Given the description of an element on the screen output the (x, y) to click on. 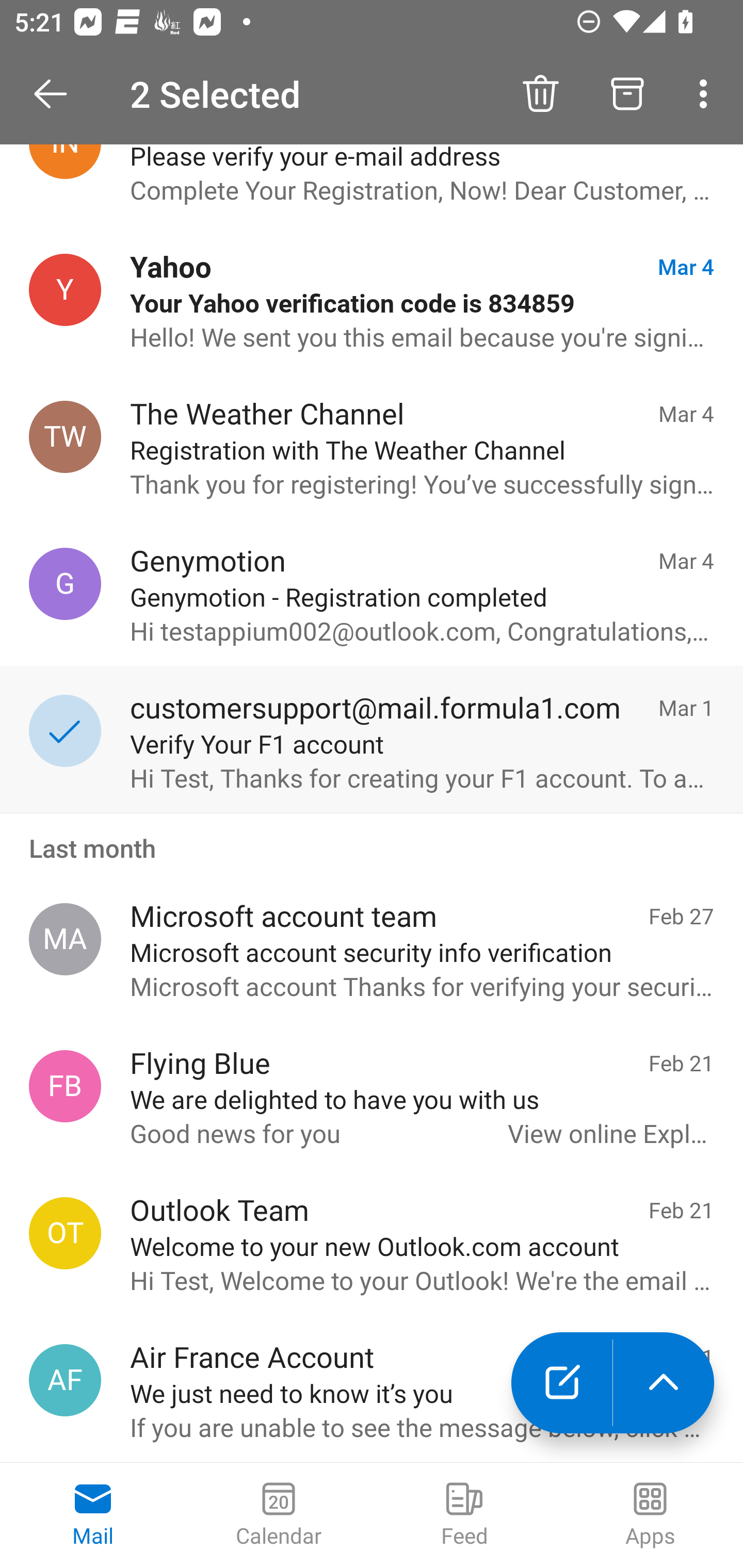
Delete (540, 93)
Archive (626, 93)
More options (706, 93)
Close Navigation Drawer (57, 94)
Yahoo, no-reply@cc.yahoo-inc.com (64, 290)
The Weather Channel, noreply@weather.com (64, 437)
Genymotion, genymotion-activation@genymobile.com (64, 583)
Flying Blue, do_not_reply@info-flyingblue.com (64, 1086)
Outlook Team, no-reply@microsoft.com (64, 1233)
New mail (561, 1382)
launch the extended action menu (663, 1382)
Air France Account, account@infos-airfrance.com (64, 1379)
Calendar (278, 1515)
Feed (464, 1515)
Apps (650, 1515)
